Given the description of an element on the screen output the (x, y) to click on. 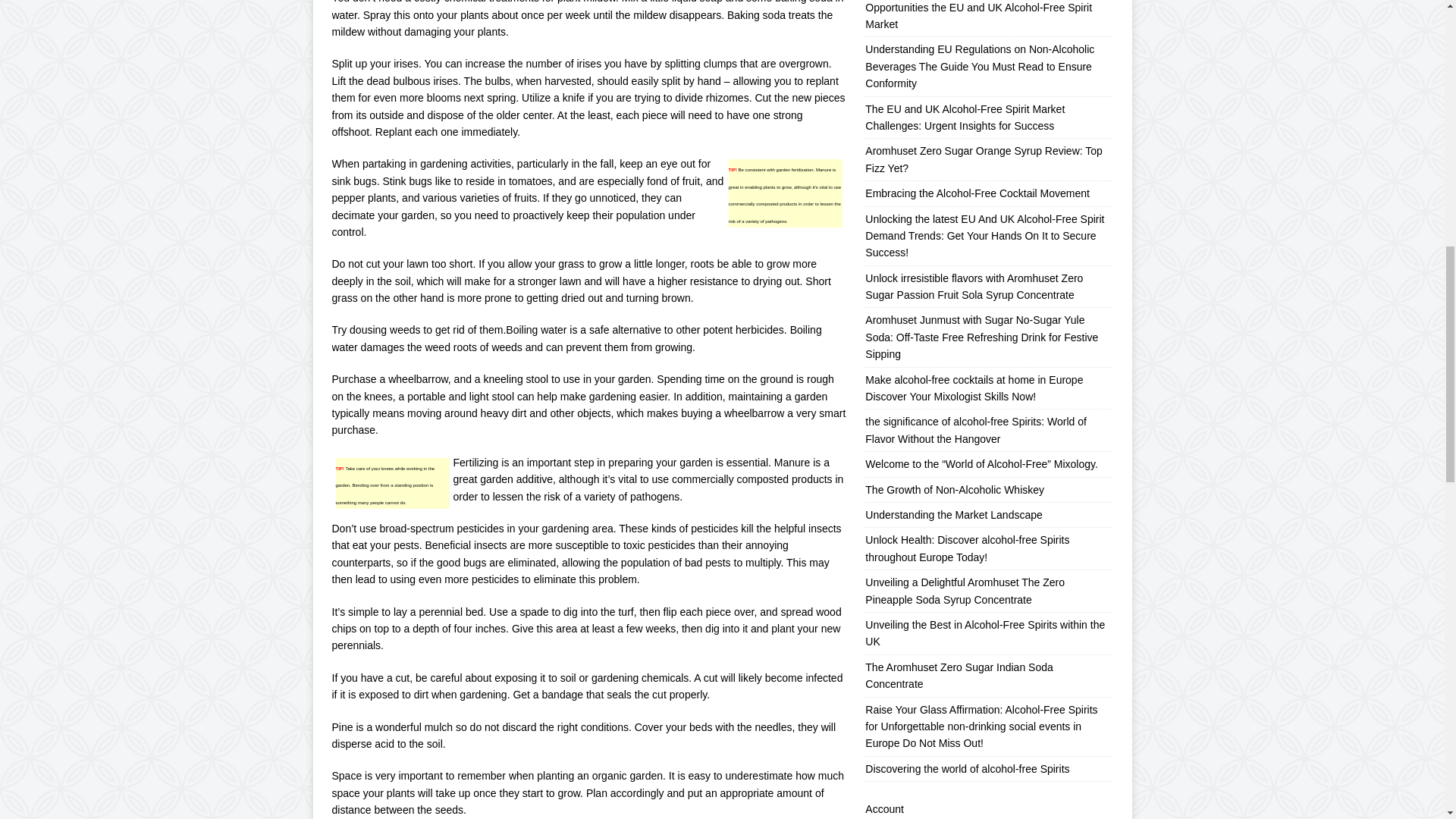
Embracing the Alcohol-Free Cocktail Movement (976, 193)
The Growth of Non-Alcoholic Whiskey (953, 490)
Understanding the Market Landscape (953, 514)
Aromhuset Zero Sugar Orange Syrup Review: Top Fizz Yet? (983, 158)
Unveiling the Best in Alcohol-Free Spirits within the UK (984, 633)
